Given the description of an element on the screen output the (x, y) to click on. 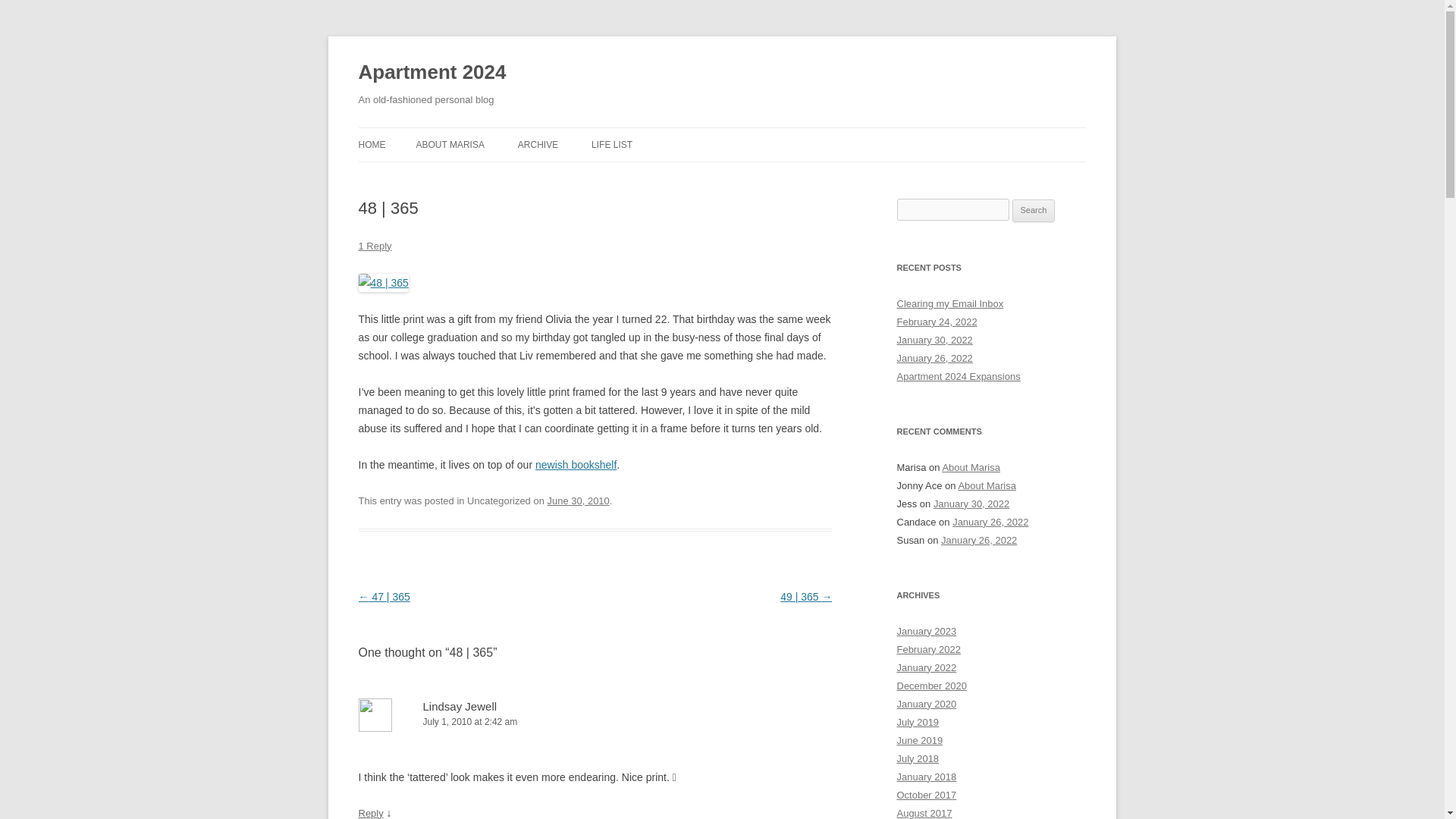
Reply (370, 813)
Lindsay Jewell (460, 706)
October 2017 (926, 794)
Apartment 2024 (431, 72)
January 26, 2022 (989, 521)
December 2020 (931, 685)
About Marisa (987, 485)
June 30, 2010 (578, 500)
January 30, 2022 (934, 339)
July 1, 2010 at 2:42 am (594, 722)
